Given the description of an element on the screen output the (x, y) to click on. 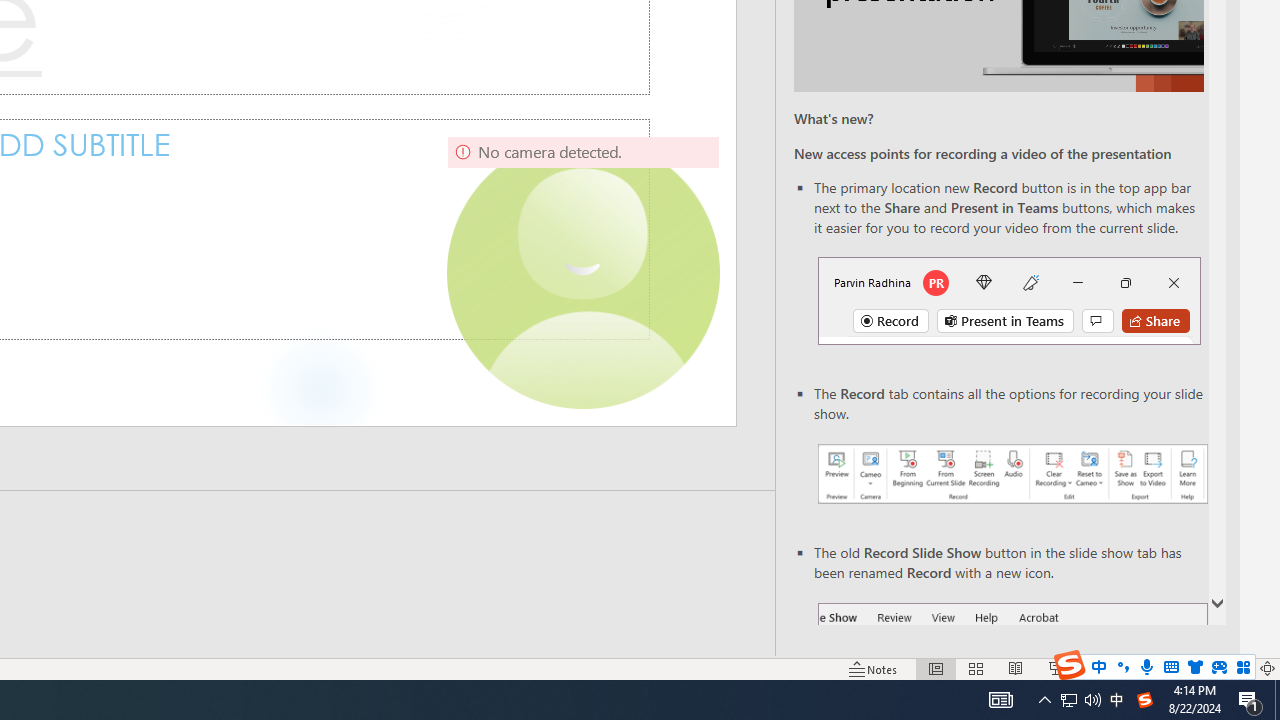
Zoom 129% (1234, 668)
Record button in top bar (1008, 300)
Record your presentations screenshot one (1012, 473)
